Given the description of an element on the screen output the (x, y) to click on. 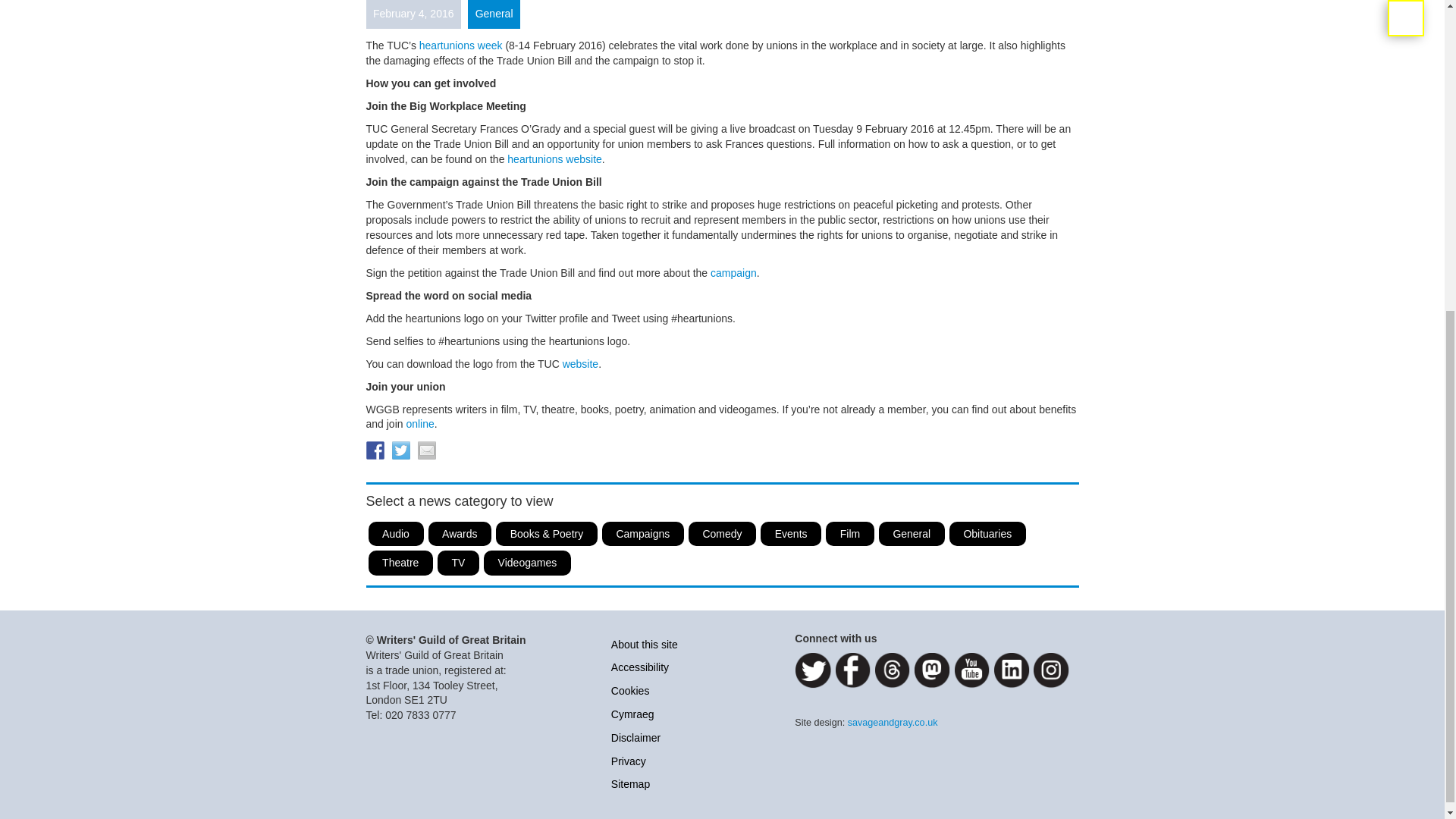
Share on Twitter (400, 450)
Share on Facebook (374, 450)
Share by email (425, 450)
